Given the description of an element on the screen output the (x, y) to click on. 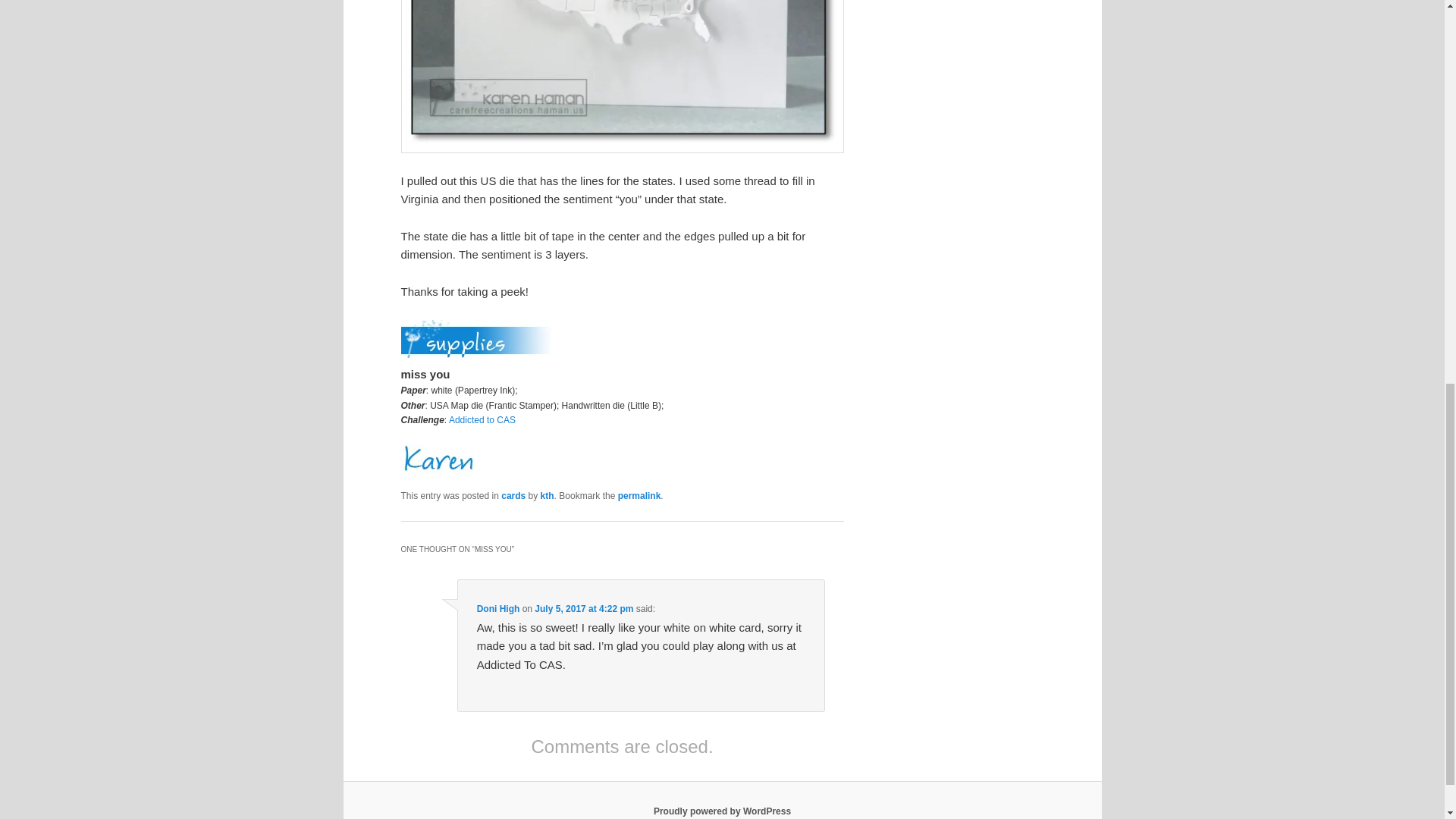
cards (512, 495)
Doni High (498, 608)
permalink (639, 495)
Permalink to Miss You (639, 495)
Addicted to CAS (481, 419)
Proudly powered by WordPress (721, 810)
July 5, 2017 at 4:22 pm (583, 608)
Semantic Personal Publishing Platform (721, 810)
kth (547, 495)
